Given the description of an element on the screen output the (x, y) to click on. 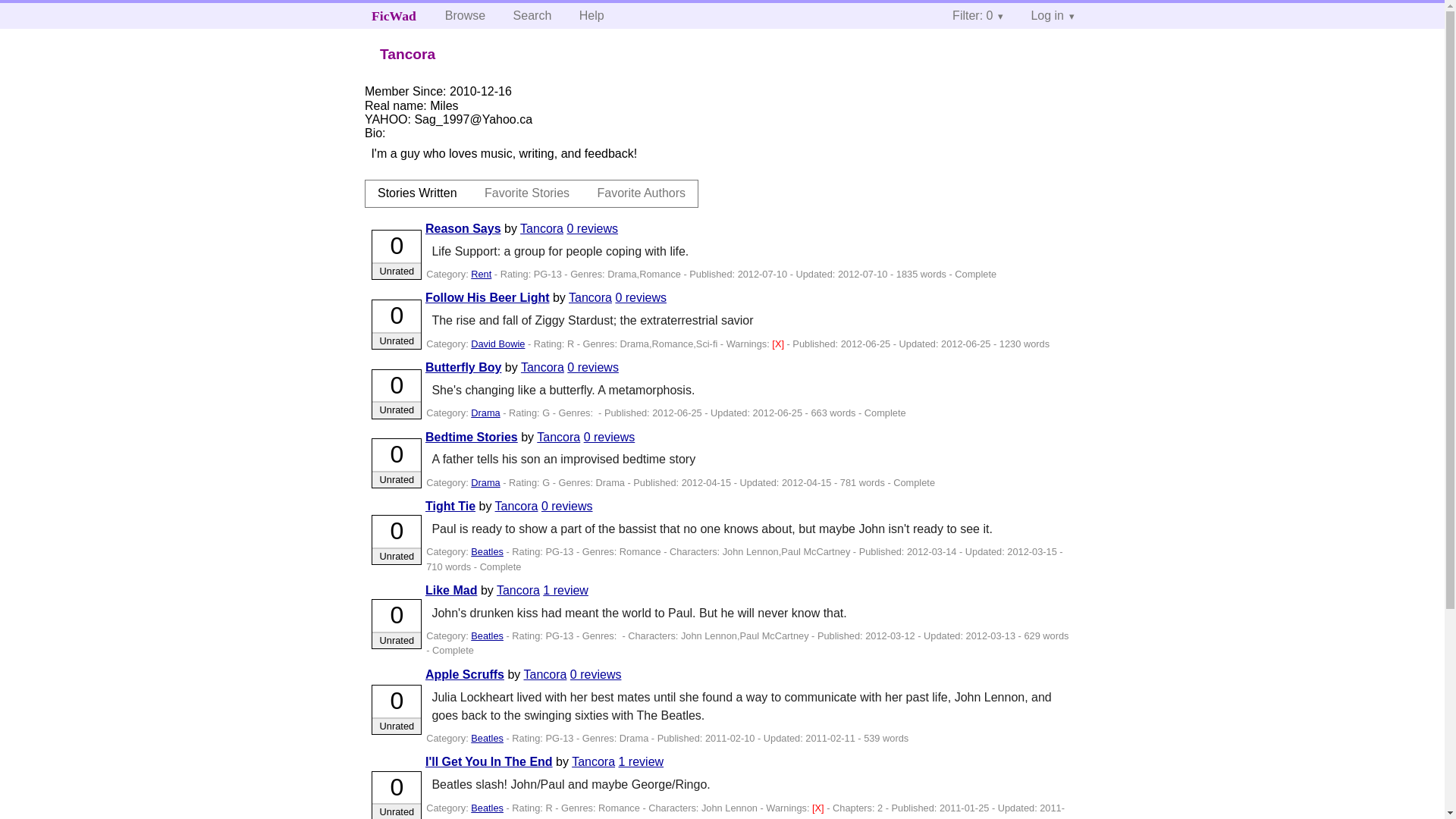
Help (591, 15)
Reason Says (462, 228)
Apple Scruffs (464, 674)
Bedtime Stories (471, 436)
Search (532, 15)
Tight Tie (450, 505)
Filter: 0 (977, 15)
Browse (464, 15)
0 reviews (608, 436)
Rent (481, 274)
Tancora (541, 228)
Favorite Stories (525, 193)
Like Mad (451, 590)
Beatles (486, 551)
Tancora (518, 590)
